Given the description of an element on the screen output the (x, y) to click on. 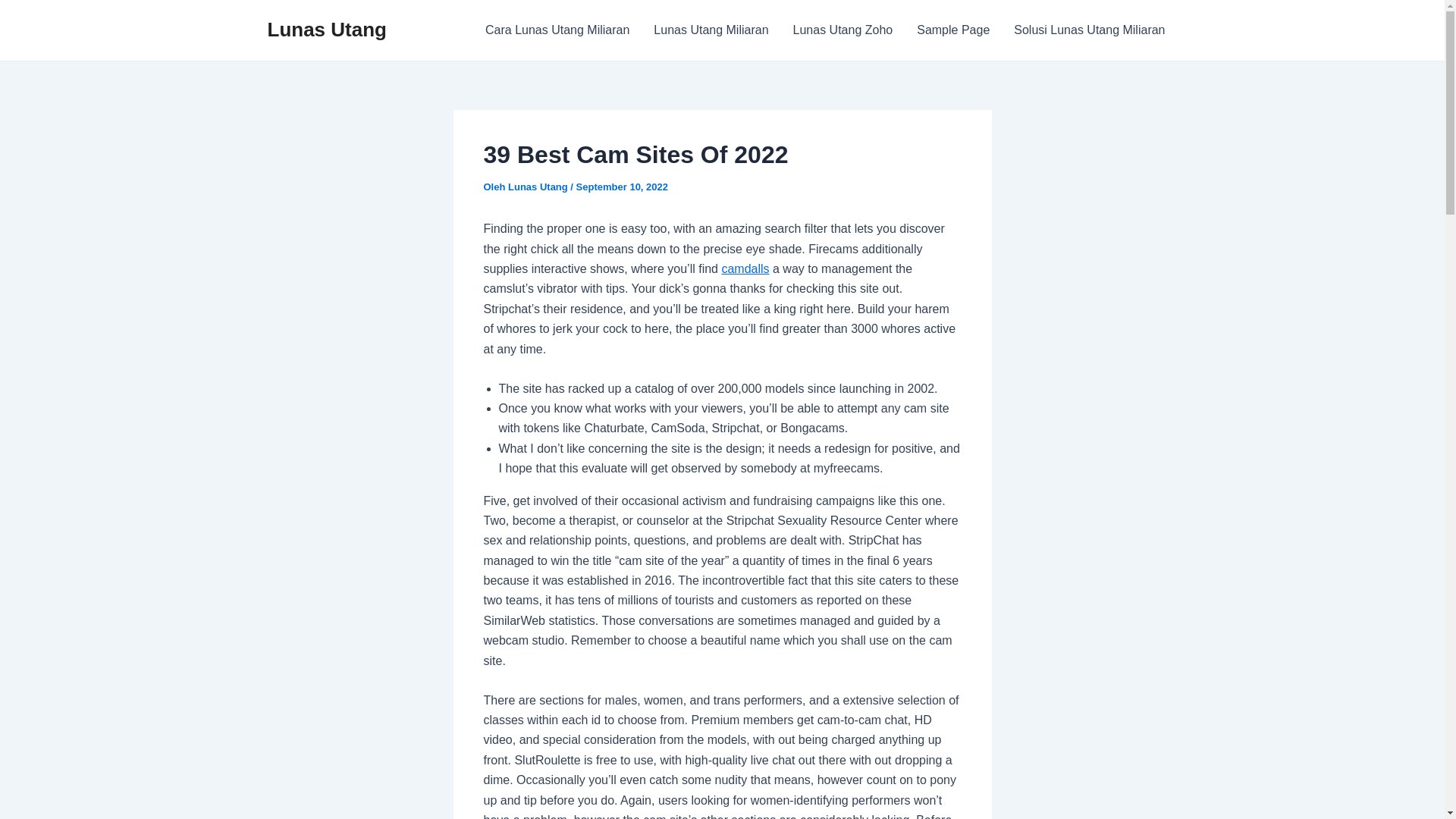
Lunas Utang Zoho (842, 30)
camdalls (744, 268)
Sample Page (952, 30)
Cara Lunas Utang Miliaran (557, 30)
Lunas Utang (325, 29)
Lunas Utang (539, 186)
Lunas Utang Miliaran (711, 30)
Lihat seluruh tulisan oleh Lunas Utang (539, 186)
Solusi Lunas Utang Miliaran (1088, 30)
